Given the description of an element on the screen output the (x, y) to click on. 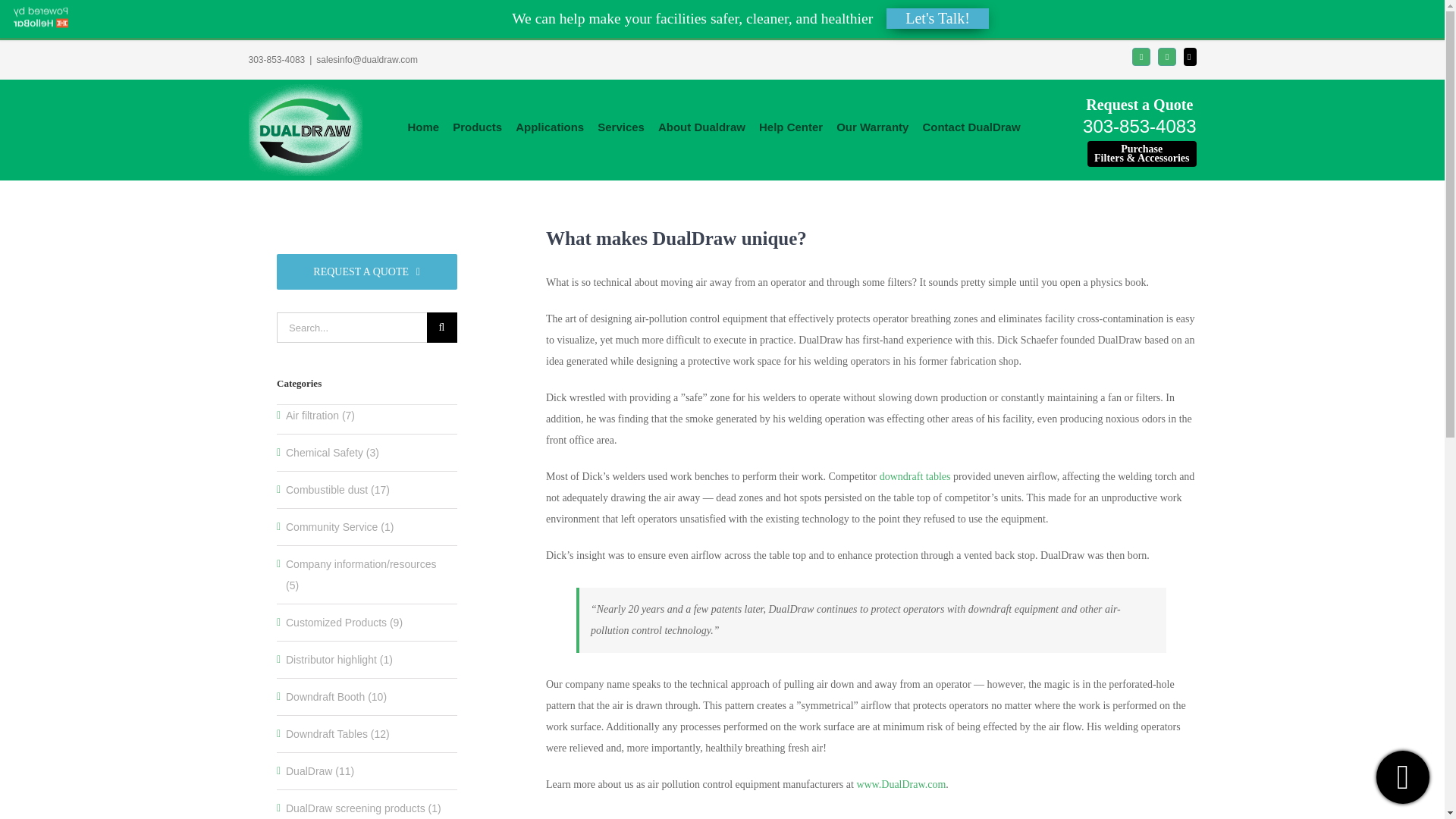
About Dualdraw (701, 125)
shop now for dualdraw filters and accessories (1141, 153)
Facebook (1141, 56)
303-853-4083 (276, 59)
LinkedIn (1166, 56)
